Given the description of an element on the screen output the (x, y) to click on. 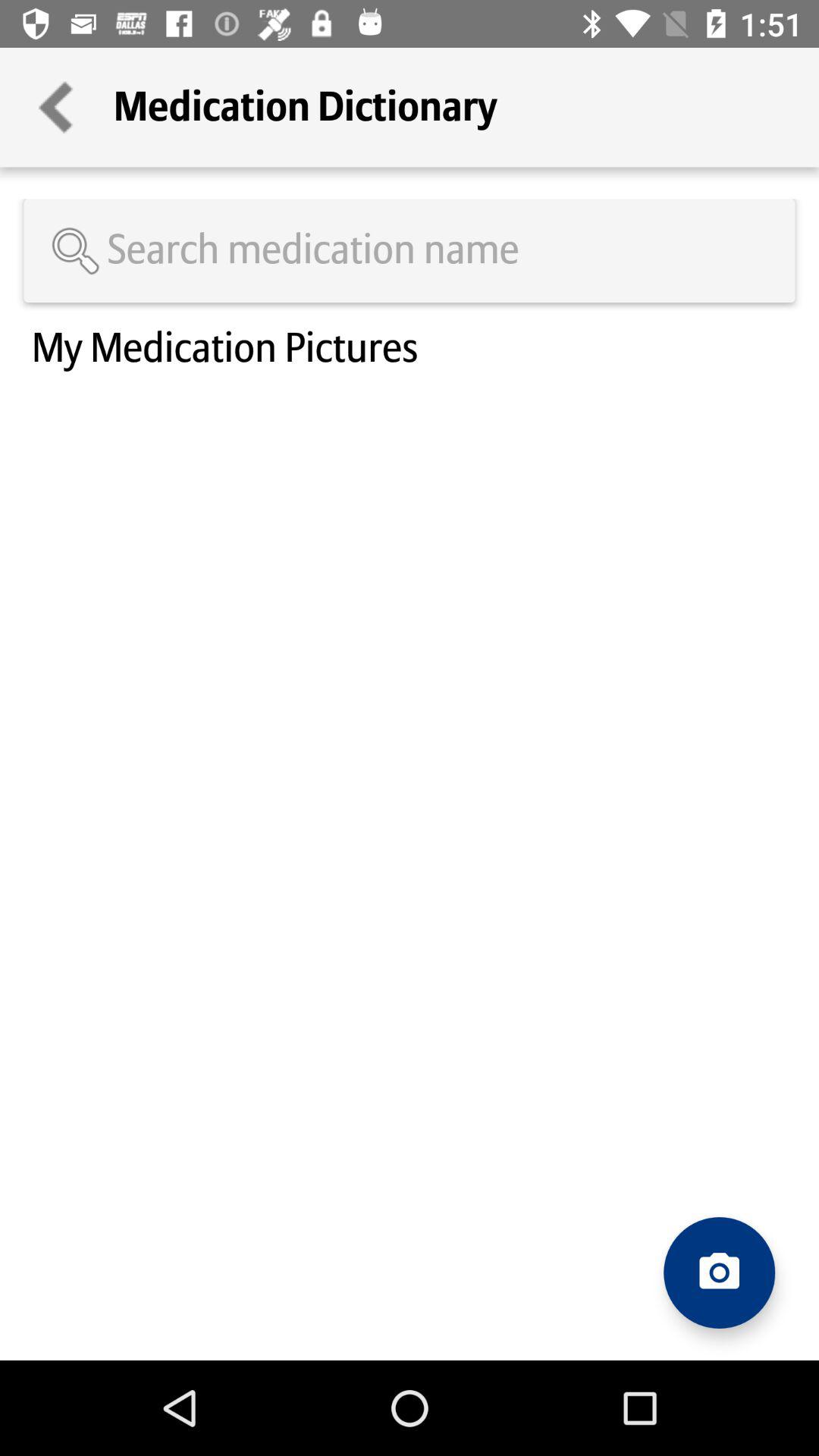
tap the icon above the my medication pictures (409, 250)
